Given the description of an element on the screen output the (x, y) to click on. 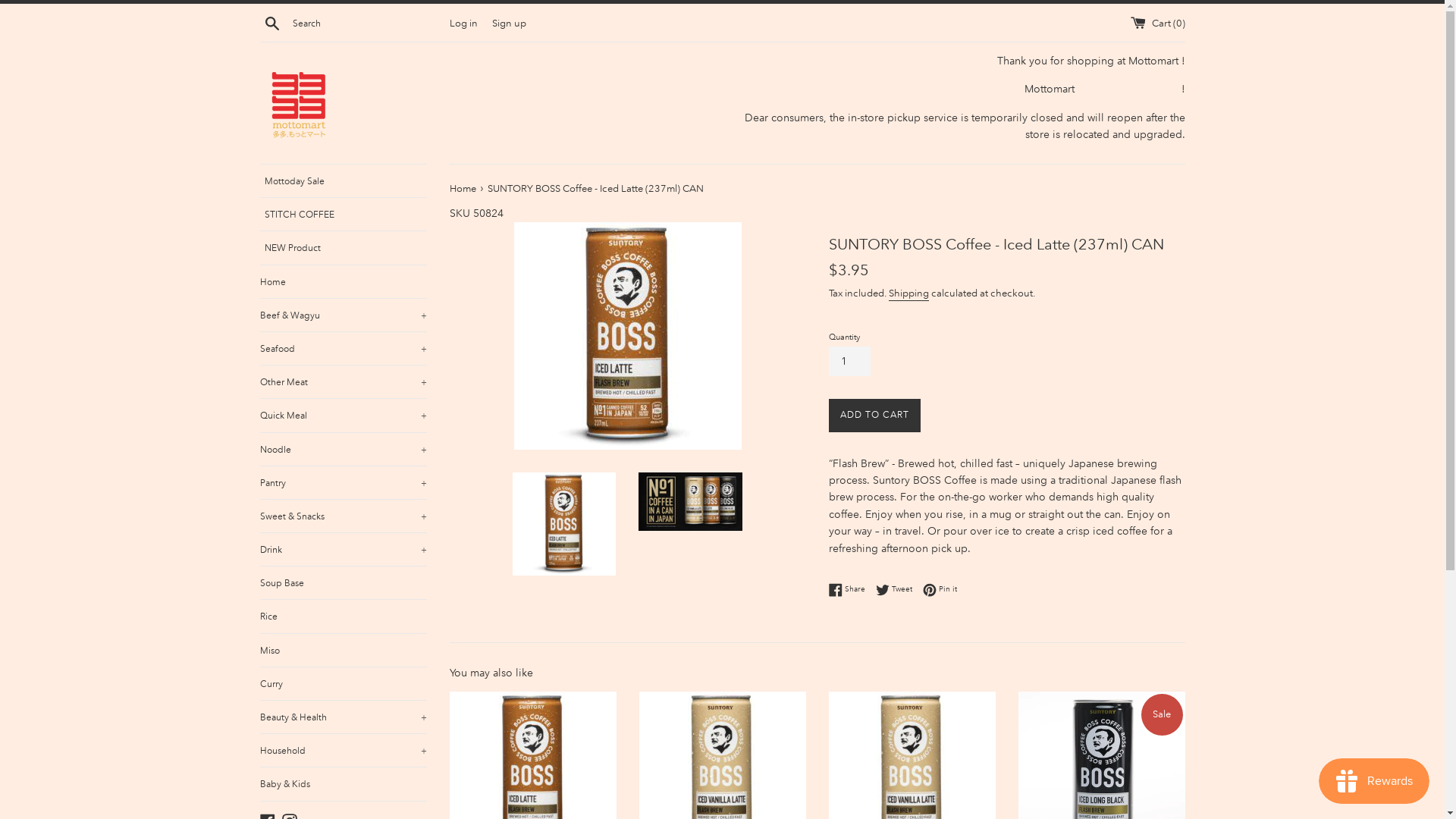
Pin it
Pin on Pinterest Element type: text (939, 589)
Rice Element type: text (342, 615)
Soup Base Element type: text (342, 582)
Drink
+ Element type: text (342, 549)
Share
Share on Facebook Element type: text (850, 589)
ADD TO CART Element type: text (873, 415)
Sign up Element type: text (508, 22)
Tweet
Tweet on Twitter Element type: text (897, 589)
Cart (0) Element type: text (1156, 22)
Beef & Wagyu
+ Element type: text (342, 314)
Home Element type: text (342, 281)
Miso Element type: text (342, 649)
Other Meat
+ Element type: text (342, 381)
Baby & Kids Element type: text (342, 783)
Search Element type: text (271, 22)
Household
+ Element type: text (342, 750)
Pantry
+ Element type: text (342, 482)
Smile.io Rewards Program Launcher Element type: hover (1373, 780)
Sweet & Snacks
+ Element type: text (342, 515)
Log in Element type: text (462, 22)
Beauty & Health
+ Element type: text (342, 716)
Shipping Element type: text (908, 294)
Home Element type: text (462, 188)
Noodle
+ Element type: text (342, 449)
Quick Meal
+ Element type: text (342, 414)
Seafood
+ Element type: text (342, 348)
Curry Element type: text (342, 683)
